Given the description of an element on the screen output the (x, y) to click on. 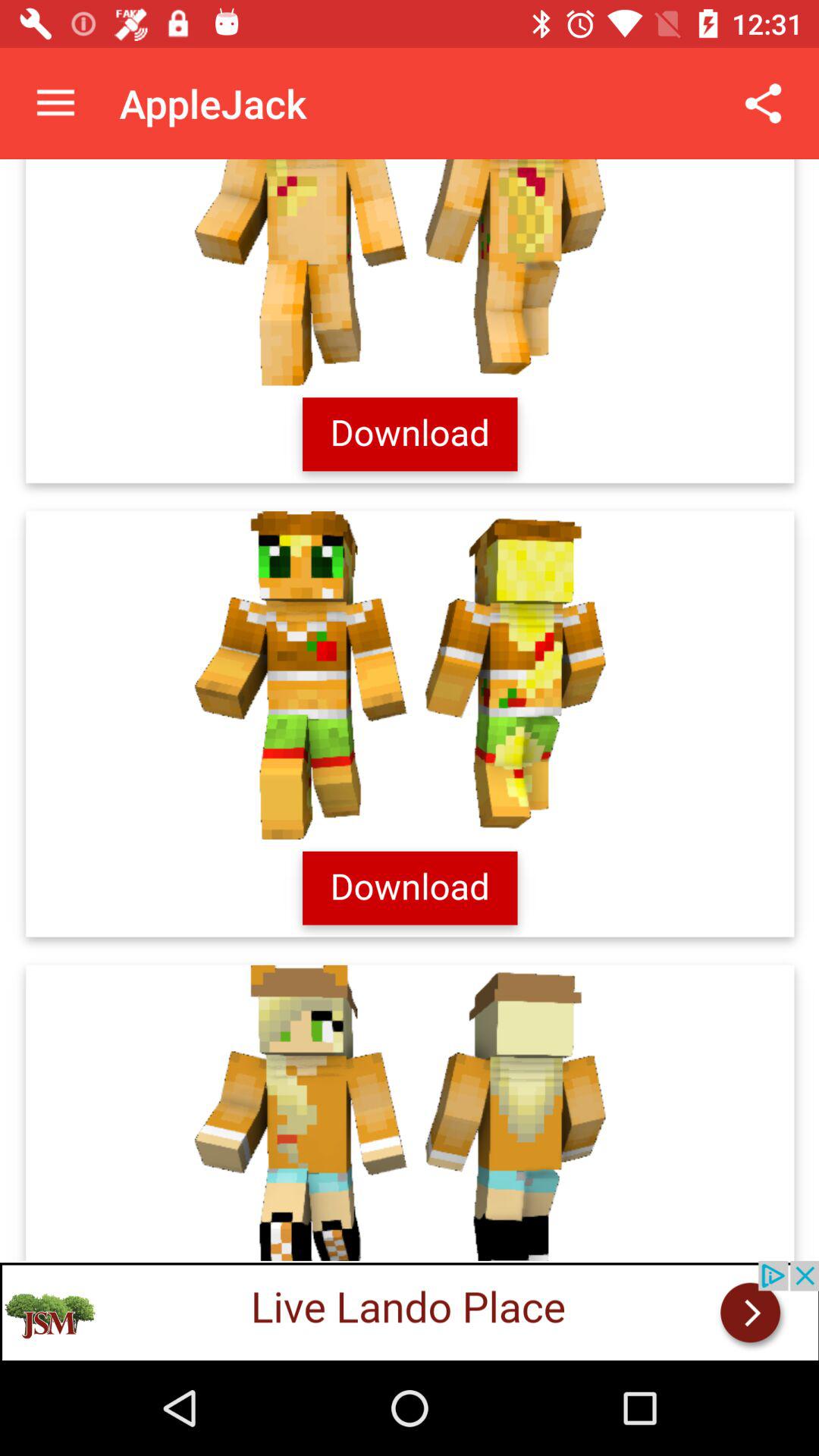
live lando place add (409, 1310)
